Given the description of an element on the screen output the (x, y) to click on. 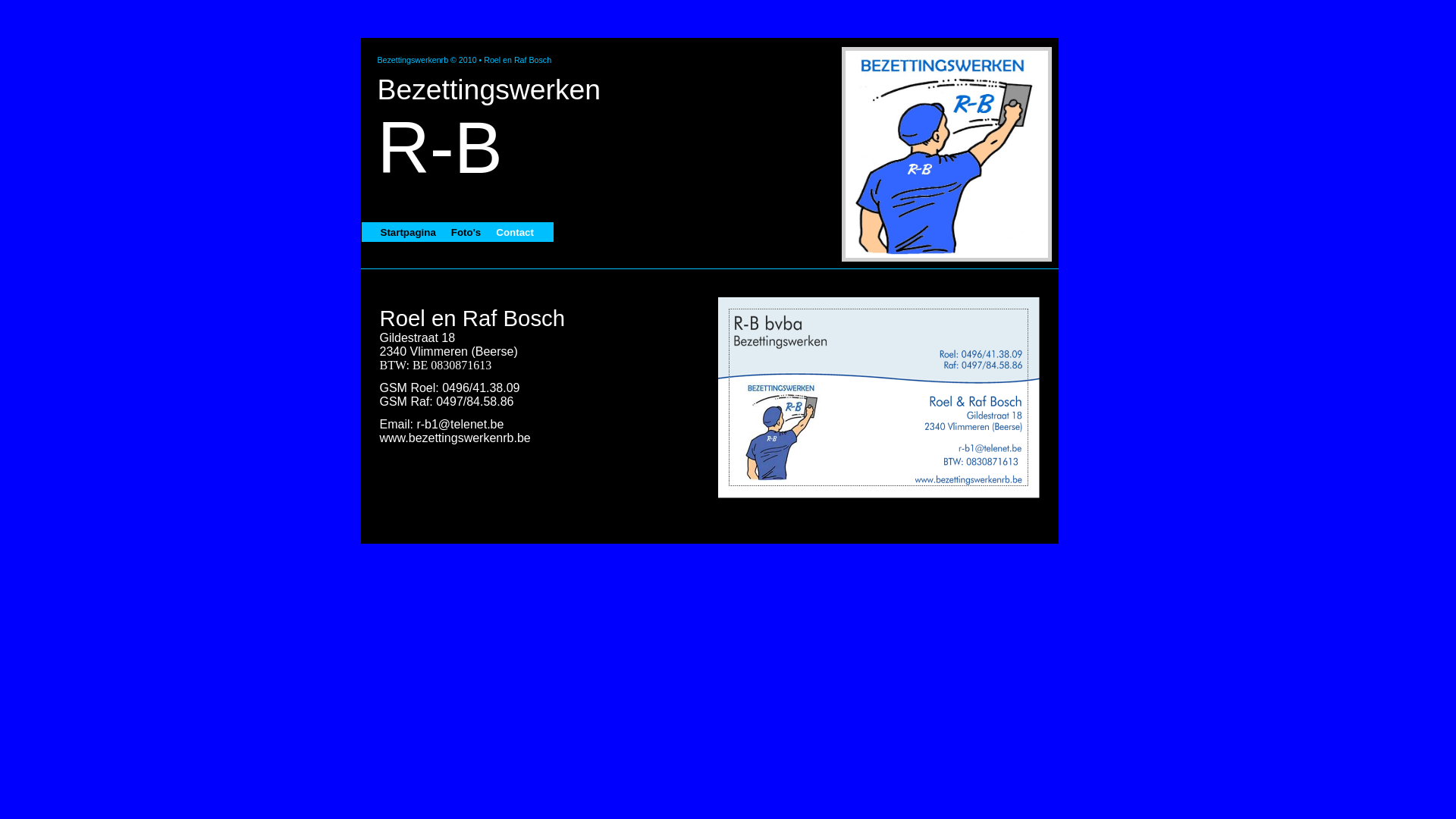
Foto's Element type: text (465, 231)
www.bezettingswerkenrb.be Element type: text (454, 437)
Startpagina Element type: text (408, 231)
Contact Element type: text (514, 231)
r-b1@telenet.be Element type: text (459, 423)
